Given the description of an element on the screen output the (x, y) to click on. 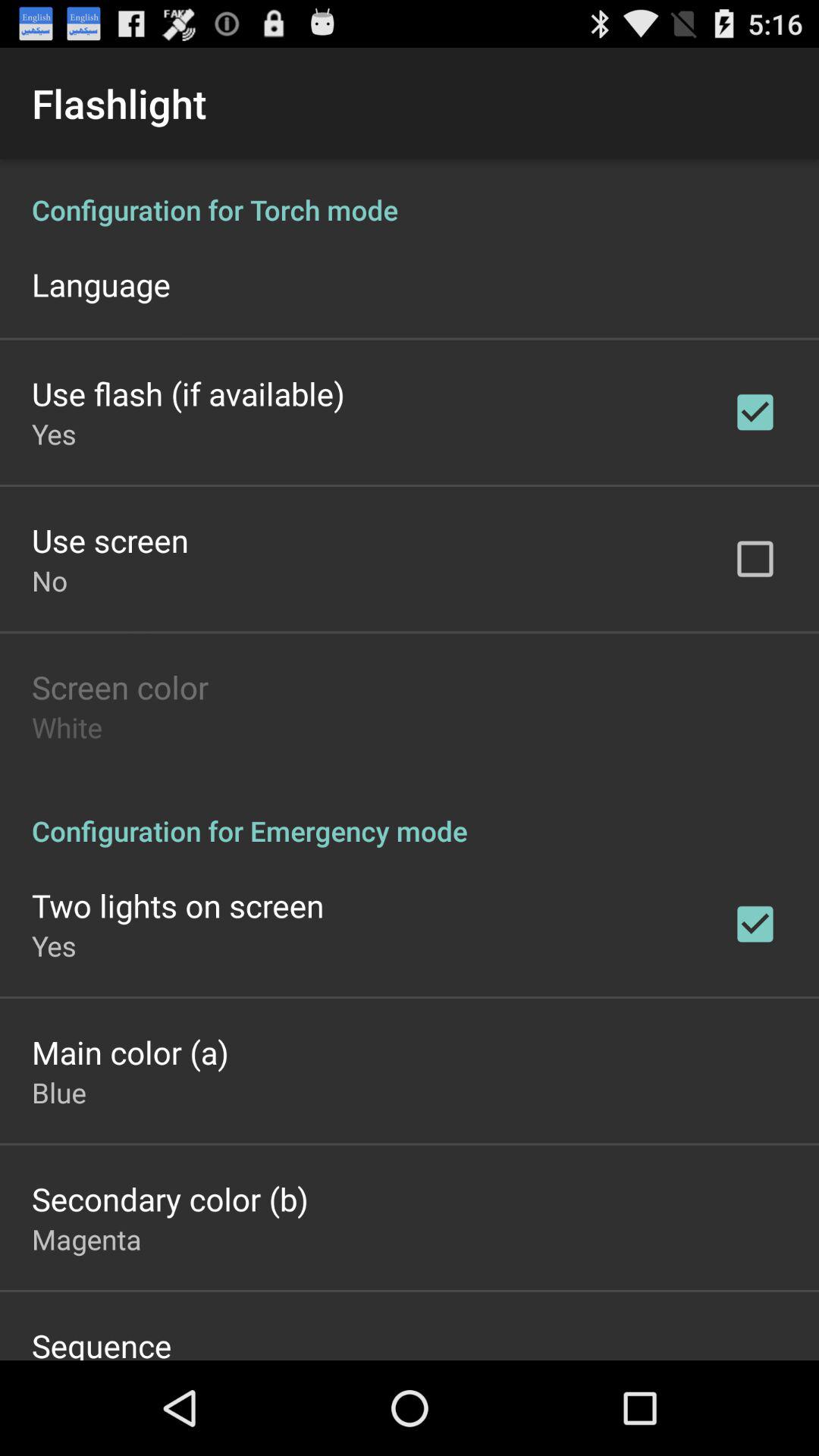
select use screen (109, 539)
